Given the description of an element on the screen output the (x, y) to click on. 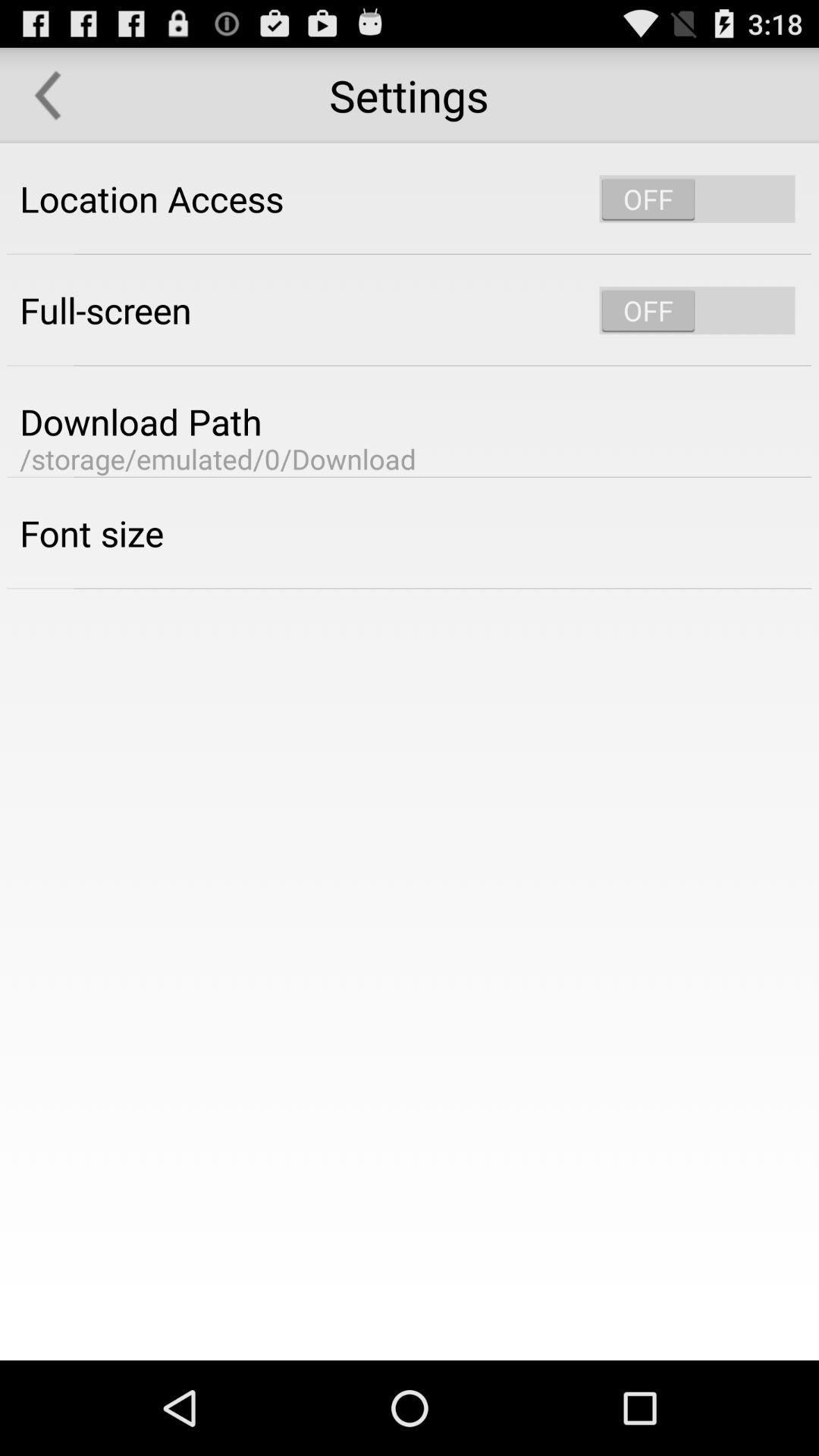
turn on the icon next to full-screen item (697, 310)
